Given the description of an element on the screen output the (x, y) to click on. 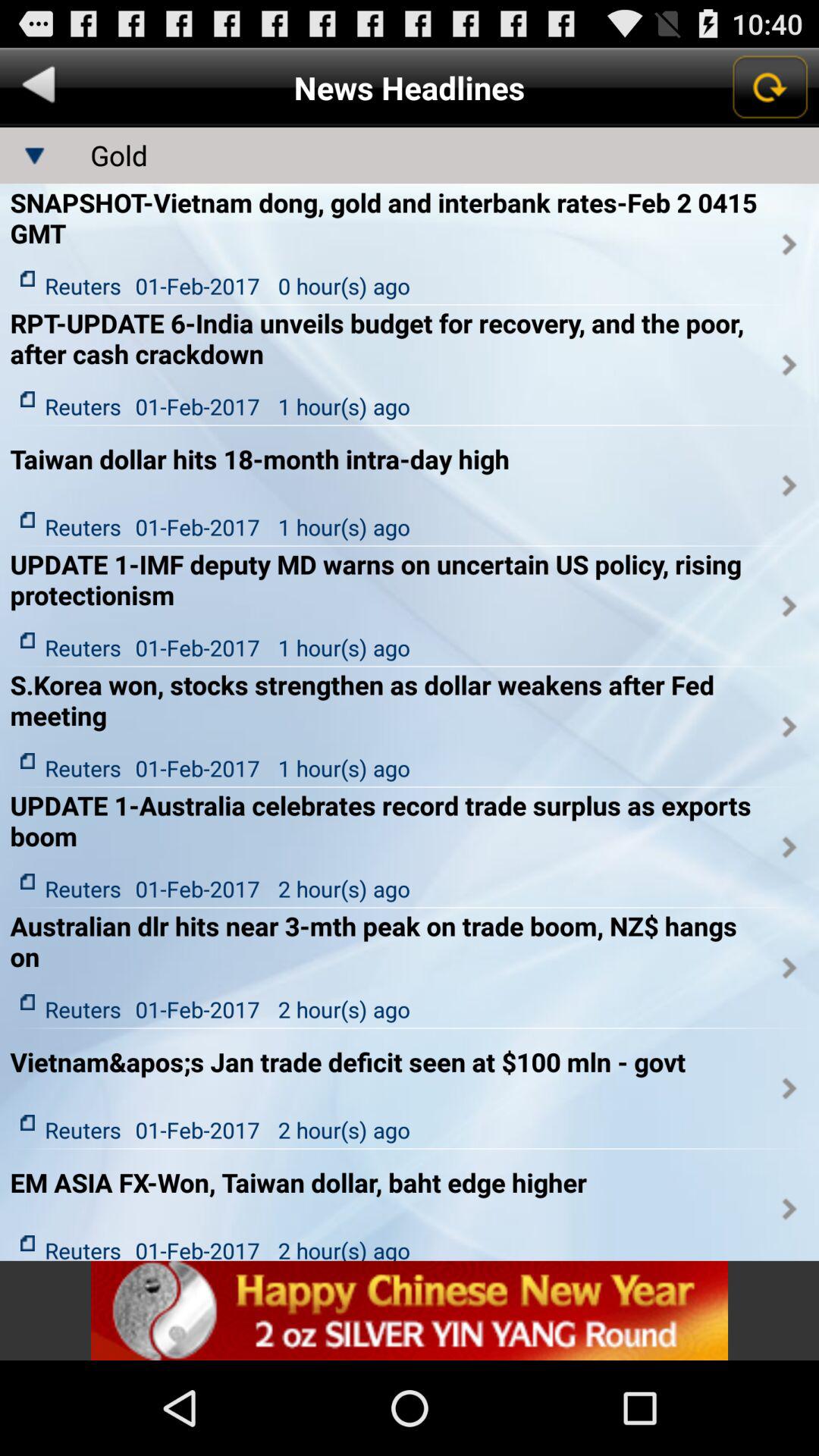
press return icon (769, 87)
